Given the description of an element on the screen output the (x, y) to click on. 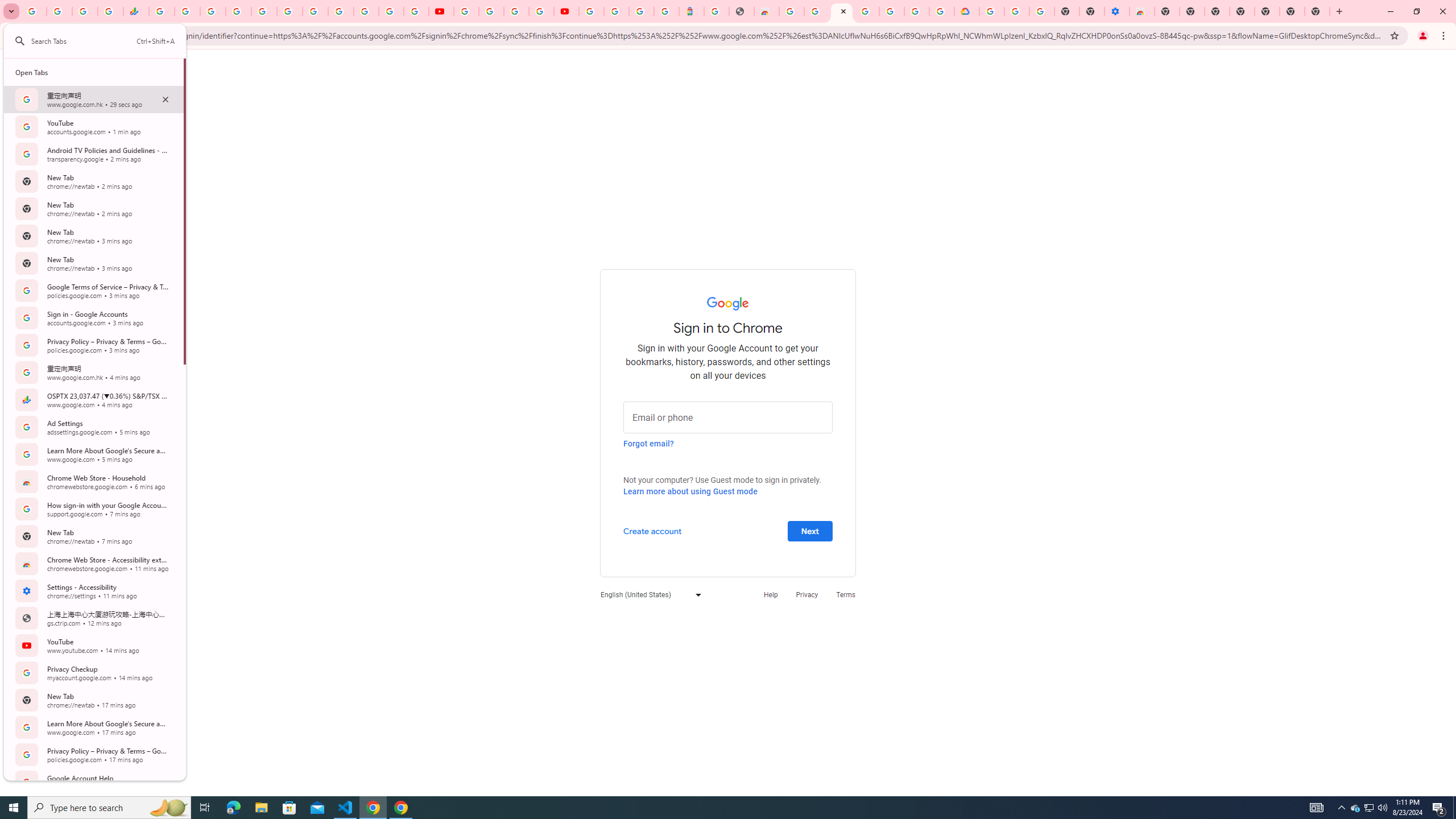
Google Chrome - 1 running window (400, 807)
Sign in - Google Accounts (238, 11)
Turn cookies on or off - Computer - Google Account Help (1042, 11)
Create your Google Account (516, 11)
Start (13, 807)
YouTube www.youtube.com 14 mins ago Open Tab (93, 645)
Microsoft Edge (233, 807)
